Given the description of an element on the screen output the (x, y) to click on. 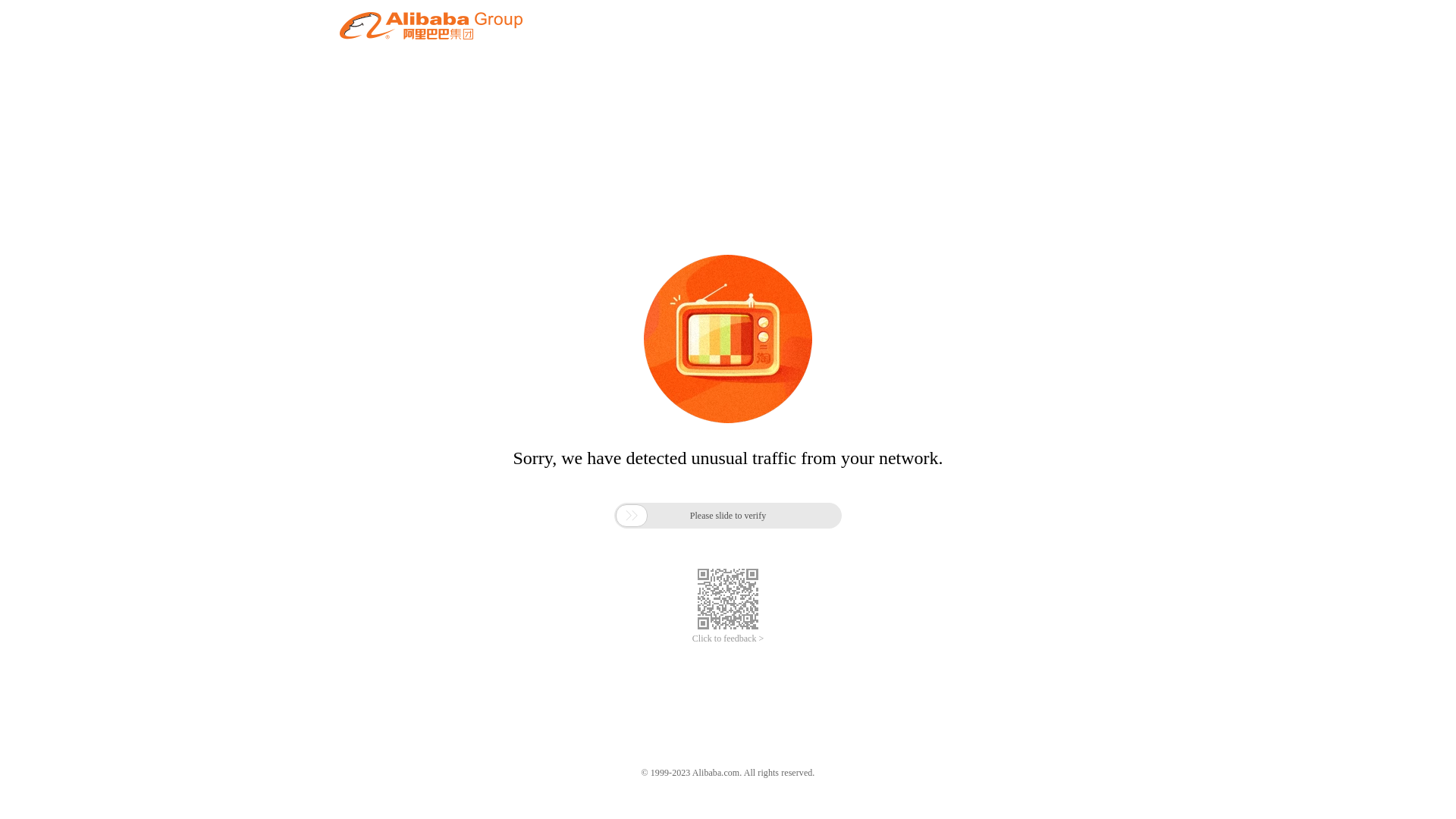
Click to feedback > Element type: text (727, 638)
